Given the description of an element on the screen output the (x, y) to click on. 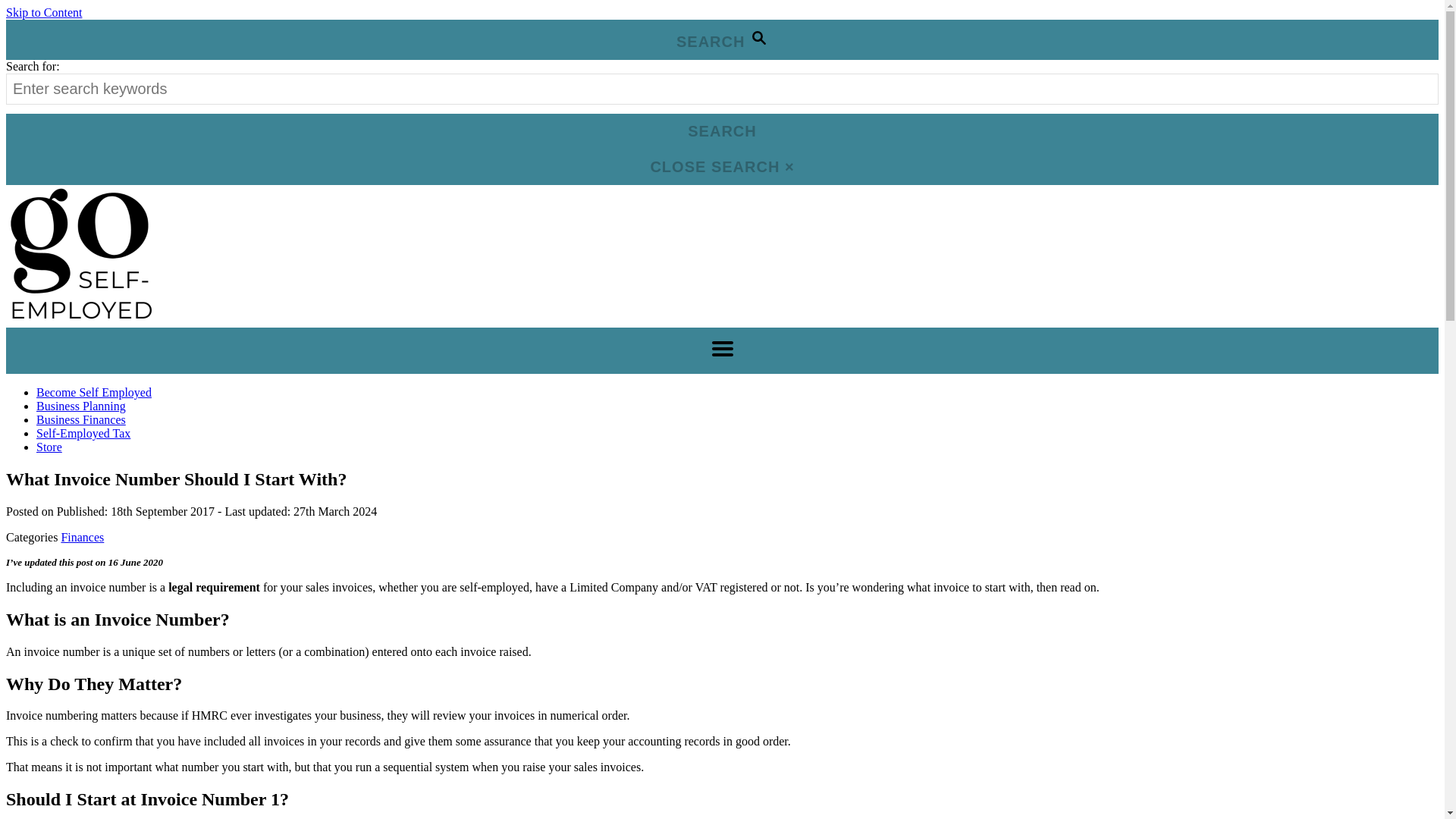
Store (49, 446)
goselfemployed.co (78, 319)
Finances (82, 536)
Become Self Employed (93, 391)
Self-Employed Tax (83, 432)
Business Planning (80, 405)
Skip to Content (43, 11)
Business Finances (80, 419)
MAGNIFYING GLASS (758, 37)
